Given the description of an element on the screen output the (x, y) to click on. 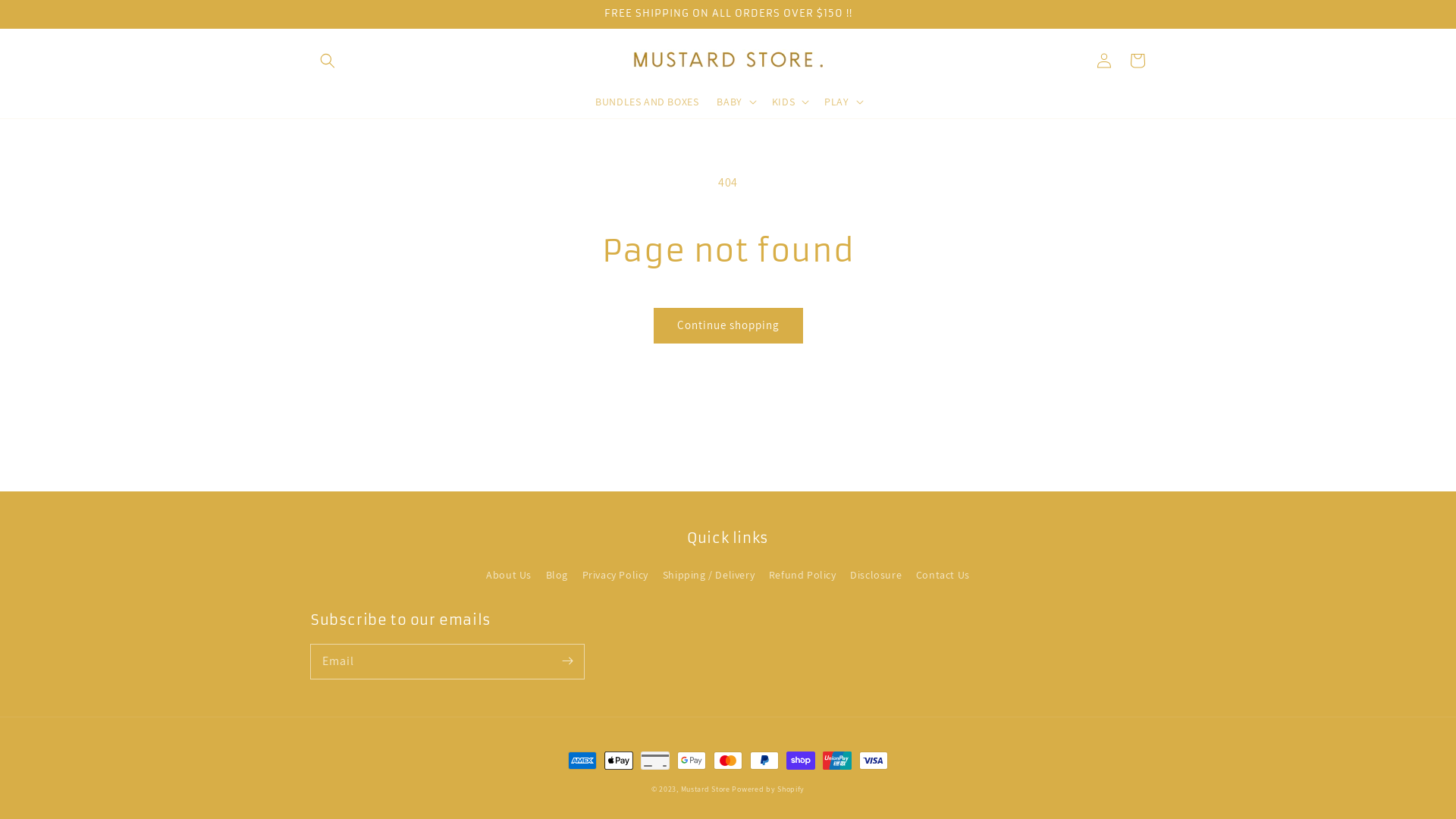
Mustard Store Element type: text (705, 788)
Contact Us Element type: text (942, 574)
Refund Policy Element type: text (802, 574)
About Us Element type: text (508, 576)
Log in Element type: text (1103, 60)
Disclosure Element type: text (875, 574)
BUNDLES AND BOXES Element type: text (646, 101)
Privacy Policy Element type: text (615, 574)
Shipping / Delivery Element type: text (708, 574)
Cart Element type: text (1137, 60)
Blog Element type: text (556, 574)
Powered by Shopify Element type: text (767, 788)
Continue shopping Element type: text (727, 325)
